Given the description of an element on the screen output the (x, y) to click on. 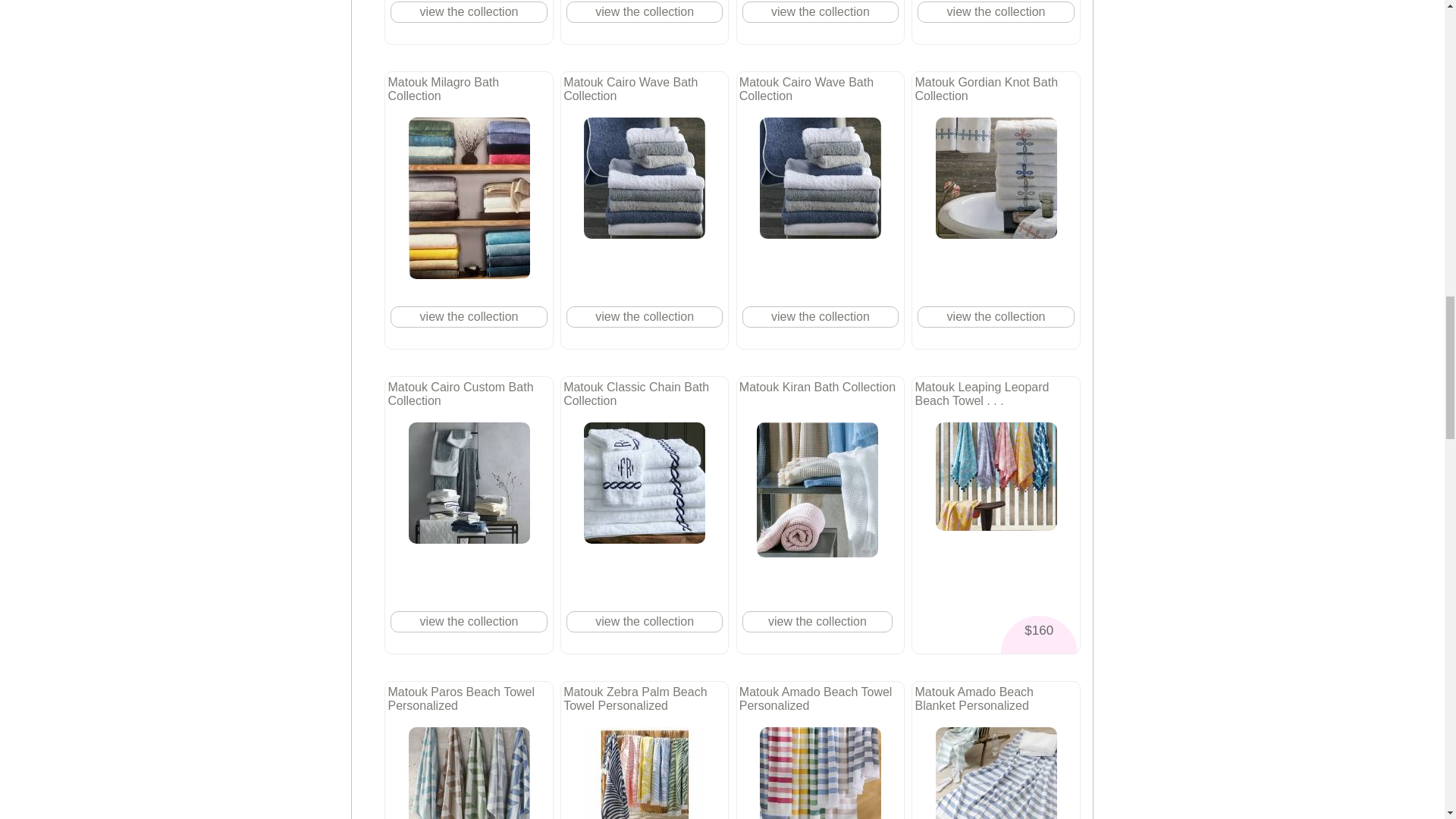
Matouk Cairo Wave Bath Collection (643, 178)
